Given the description of an element on the screen output the (x, y) to click on. 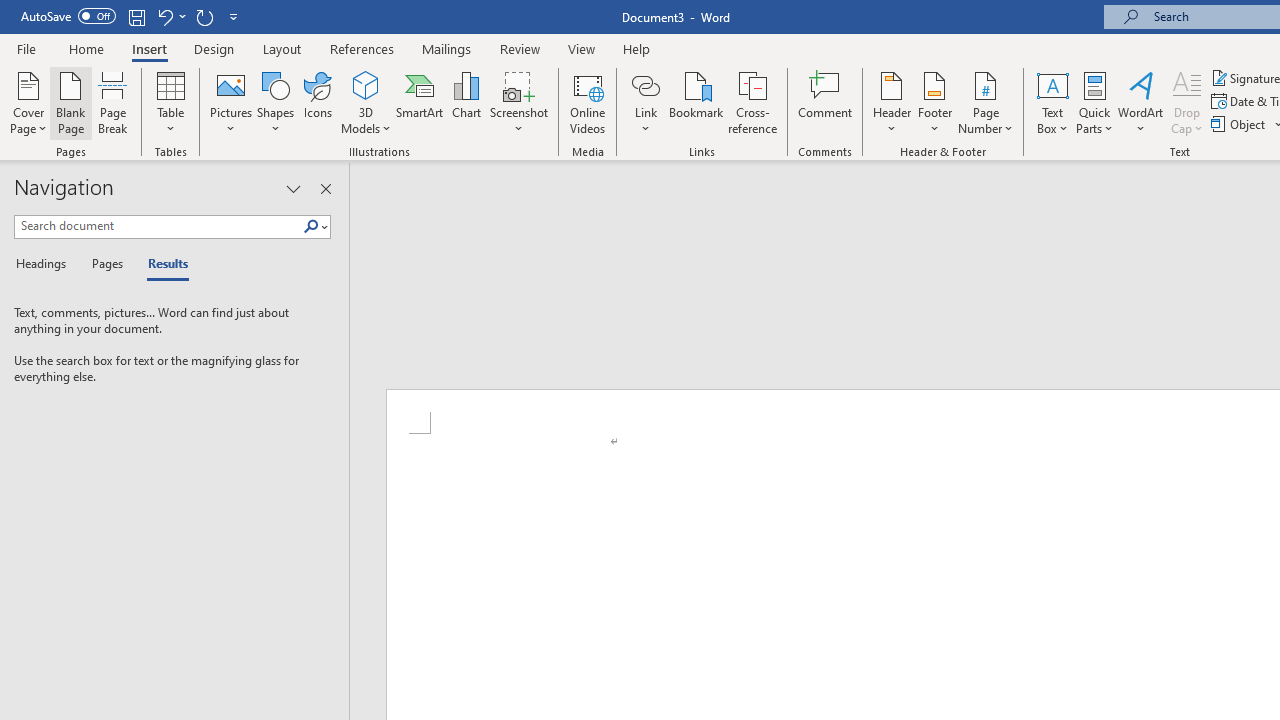
Blank Page (70, 102)
Cross-reference... (752, 102)
Icons (317, 102)
Cover Page (28, 102)
Shapes (275, 102)
Table (170, 102)
SmartArt... (419, 102)
WordArt (1141, 102)
